Given the description of an element on the screen output the (x, y) to click on. 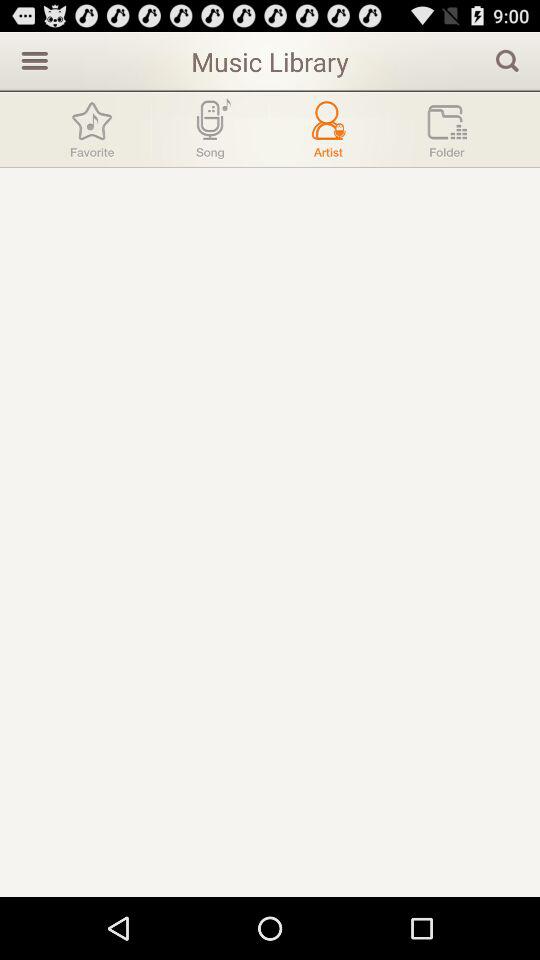
select the song (210, 129)
